Given the description of an element on the screen output the (x, y) to click on. 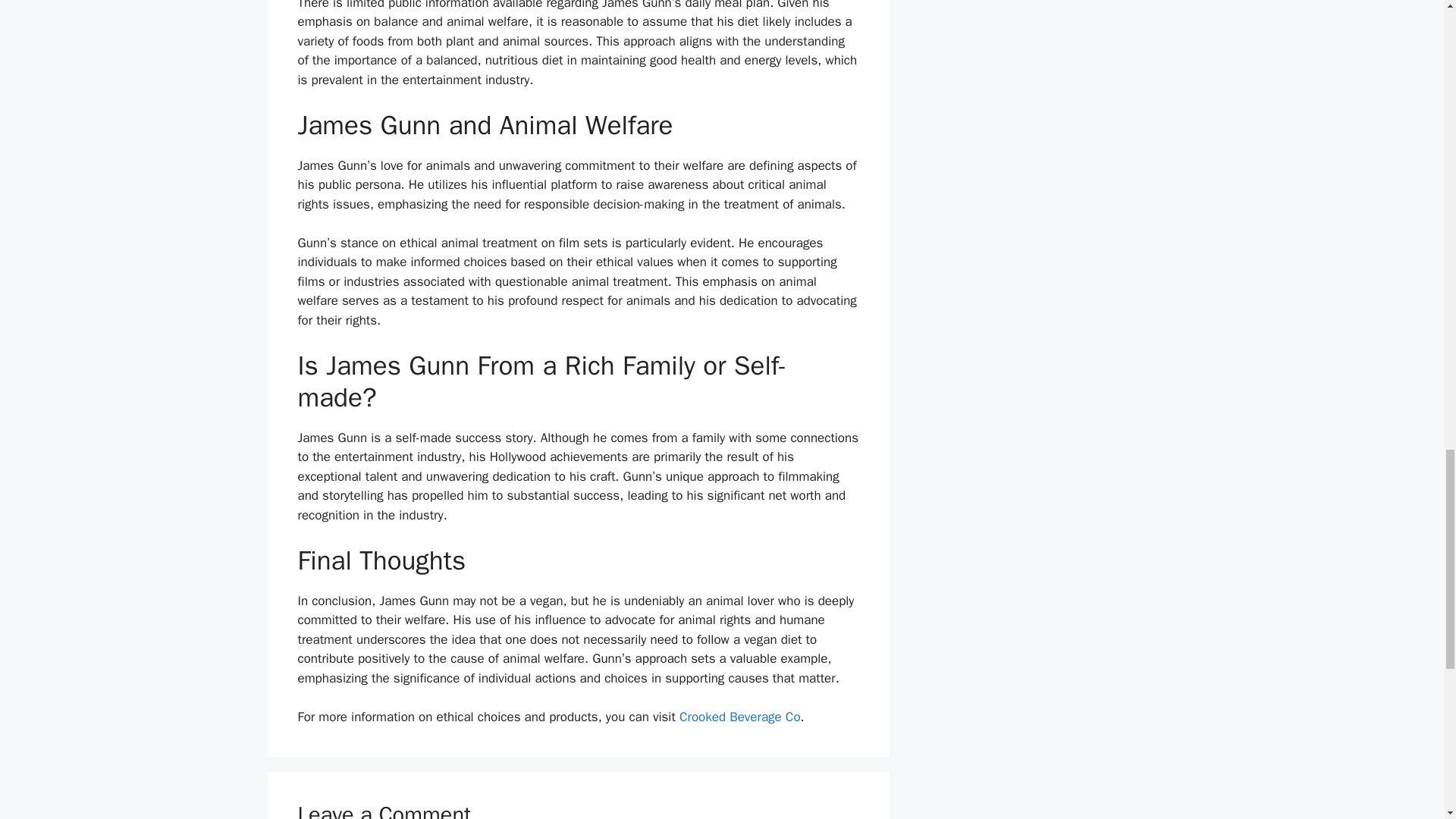
Crooked Beverage Co (739, 716)
